Given the description of an element on the screen output the (x, y) to click on. 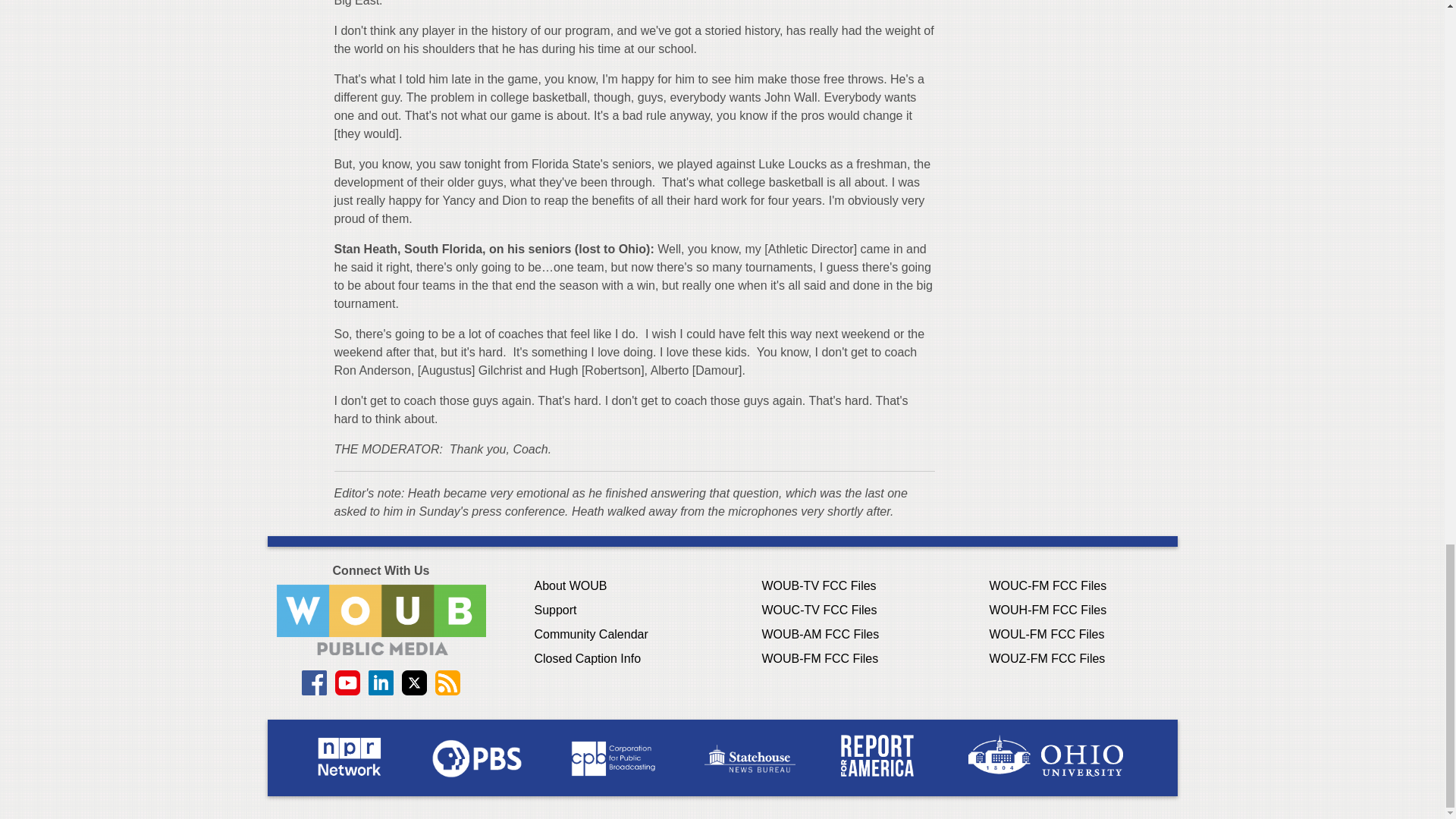
Contact WOUB (380, 619)
